Given the description of an element on the screen output the (x, y) to click on. 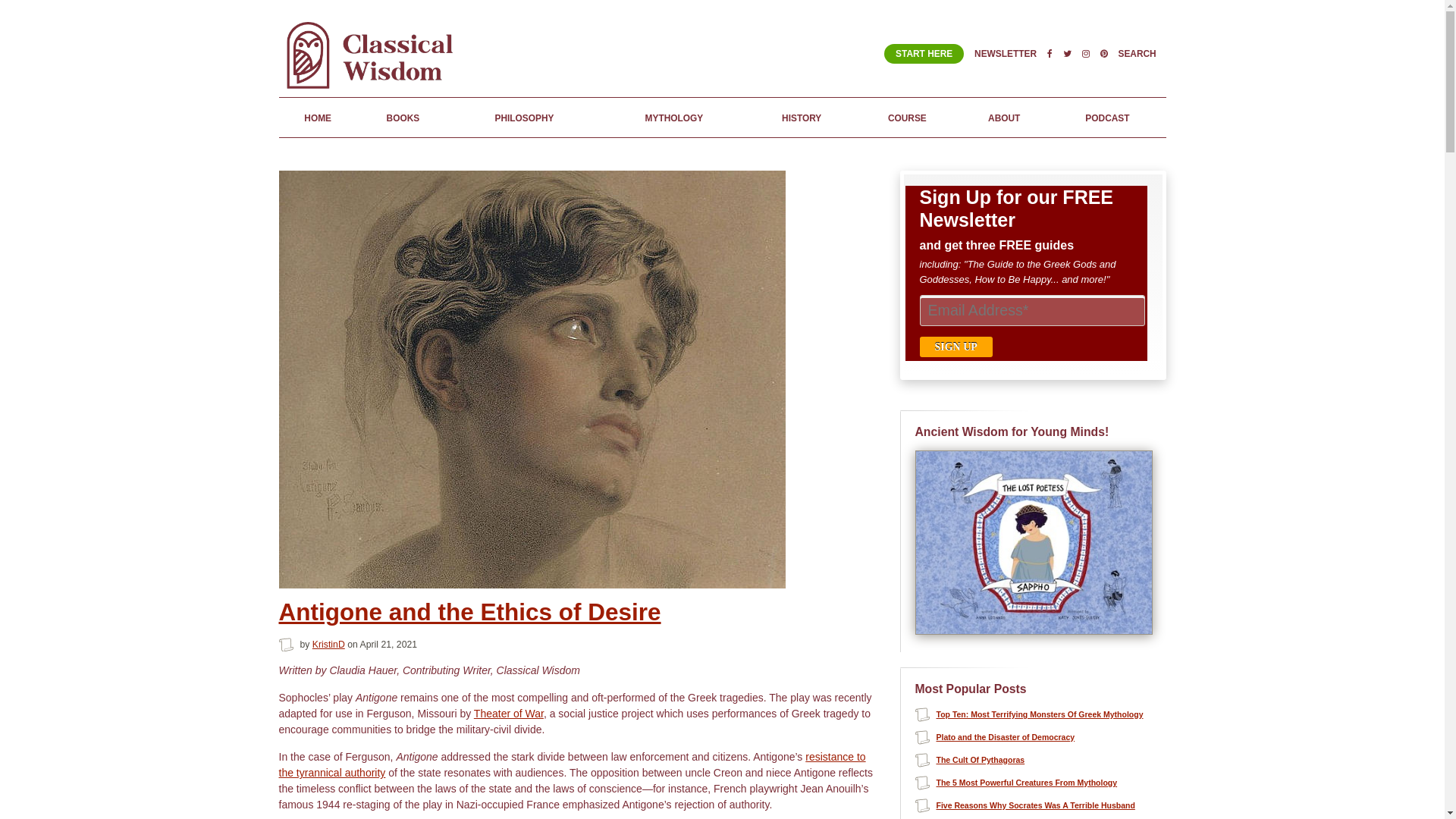
Posts by KristinD (329, 644)
Ancient Wisdom for Modern Minds (373, 89)
NEWSLETTER (1005, 53)
MYTHOLOGY (673, 117)
START HERE (923, 53)
HISTORY (802, 117)
Sappho (1032, 630)
BOOKS (402, 117)
HOME (317, 117)
PHILOSOPHY (523, 117)
SEARCH (1137, 53)
